Given the description of an element on the screen output the (x, y) to click on. 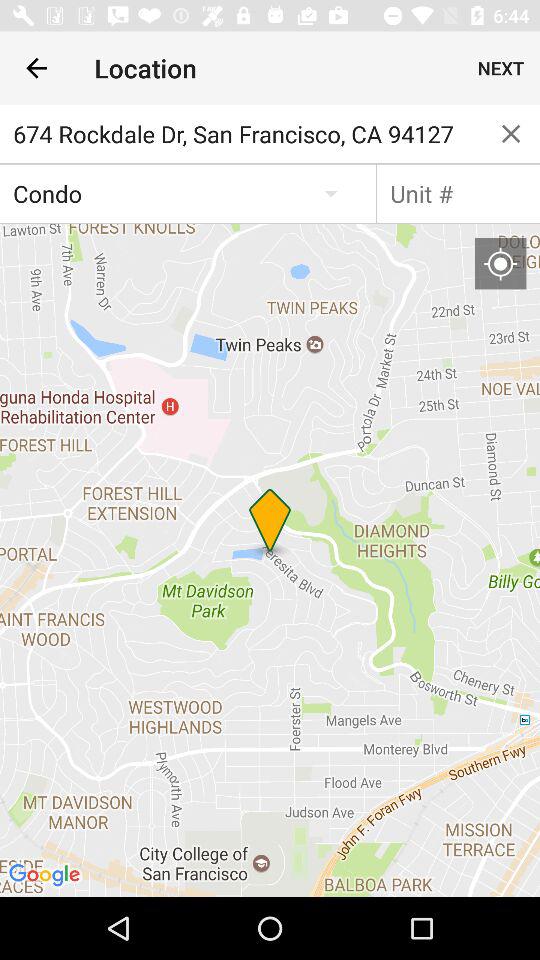
close or exit page (511, 133)
